Given the description of an element on the screen output the (x, y) to click on. 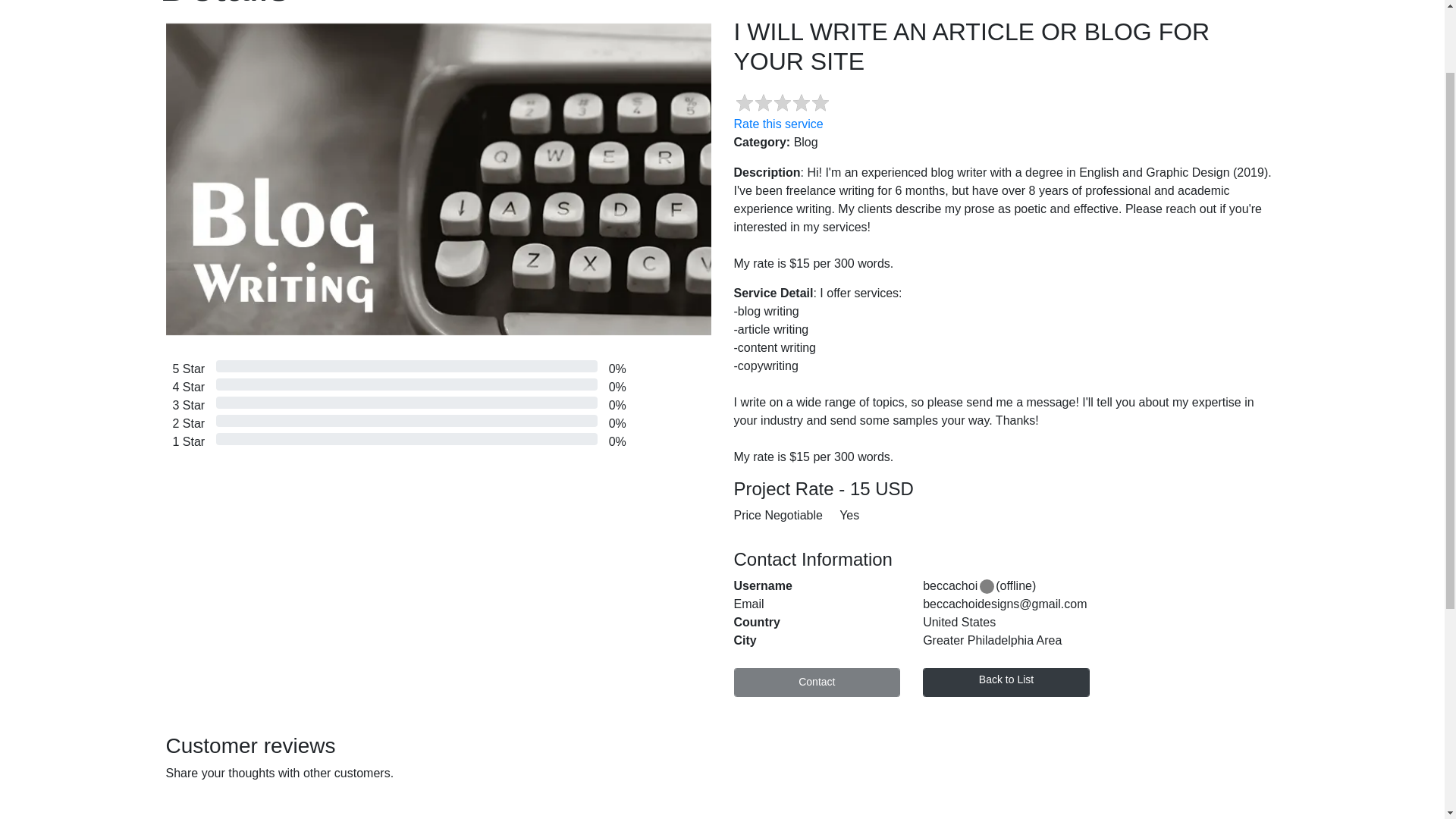
Back to List (1006, 682)
beccachoi (949, 585)
Share your thoughts with other customers. (279, 772)
Rate this service (778, 123)
City (816, 640)
Greater Philadelphia Area (1100, 640)
Email (816, 604)
Username (816, 586)
Price Negotiable     Yes (1006, 518)
Contact (817, 682)
